Given the description of an element on the screen output the (x, y) to click on. 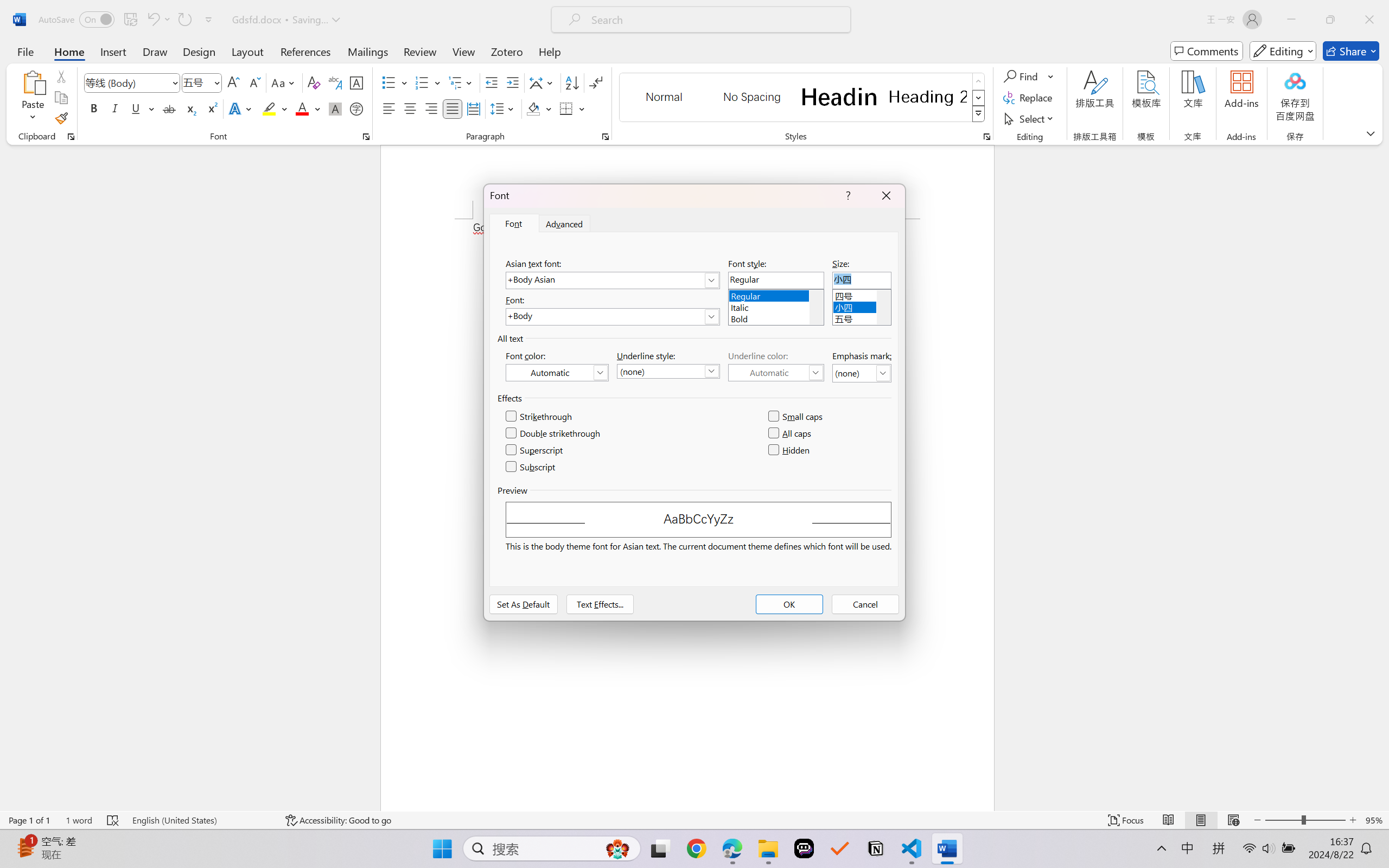
Format Painter (60, 118)
Styles... (986, 136)
Google Chrome (696, 848)
Advanced (564, 223)
Shading (539, 108)
AutomationID: 1795 (815, 306)
Align Left (388, 108)
Text Highlight Color (274, 108)
Justify (452, 108)
